Given the description of an element on the screen output the (x, y) to click on. 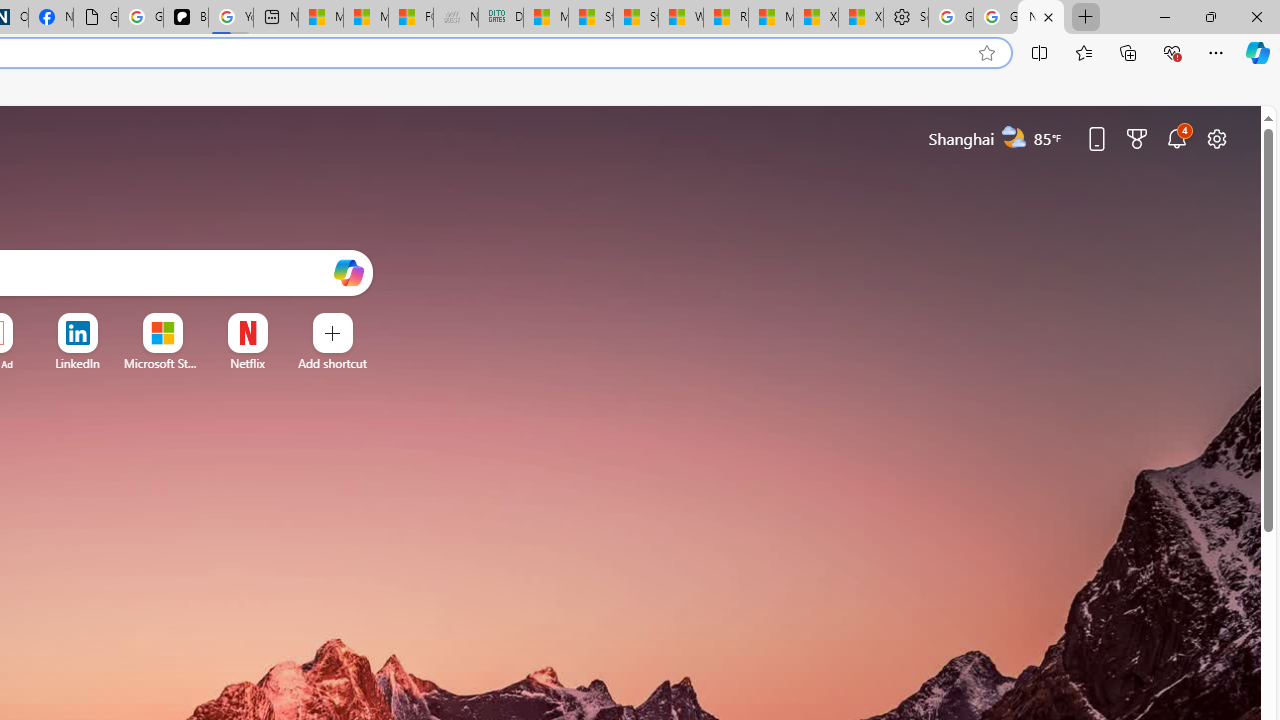
FOX News - MSN (410, 17)
